Given the description of an element on the screen output the (x, y) to click on. 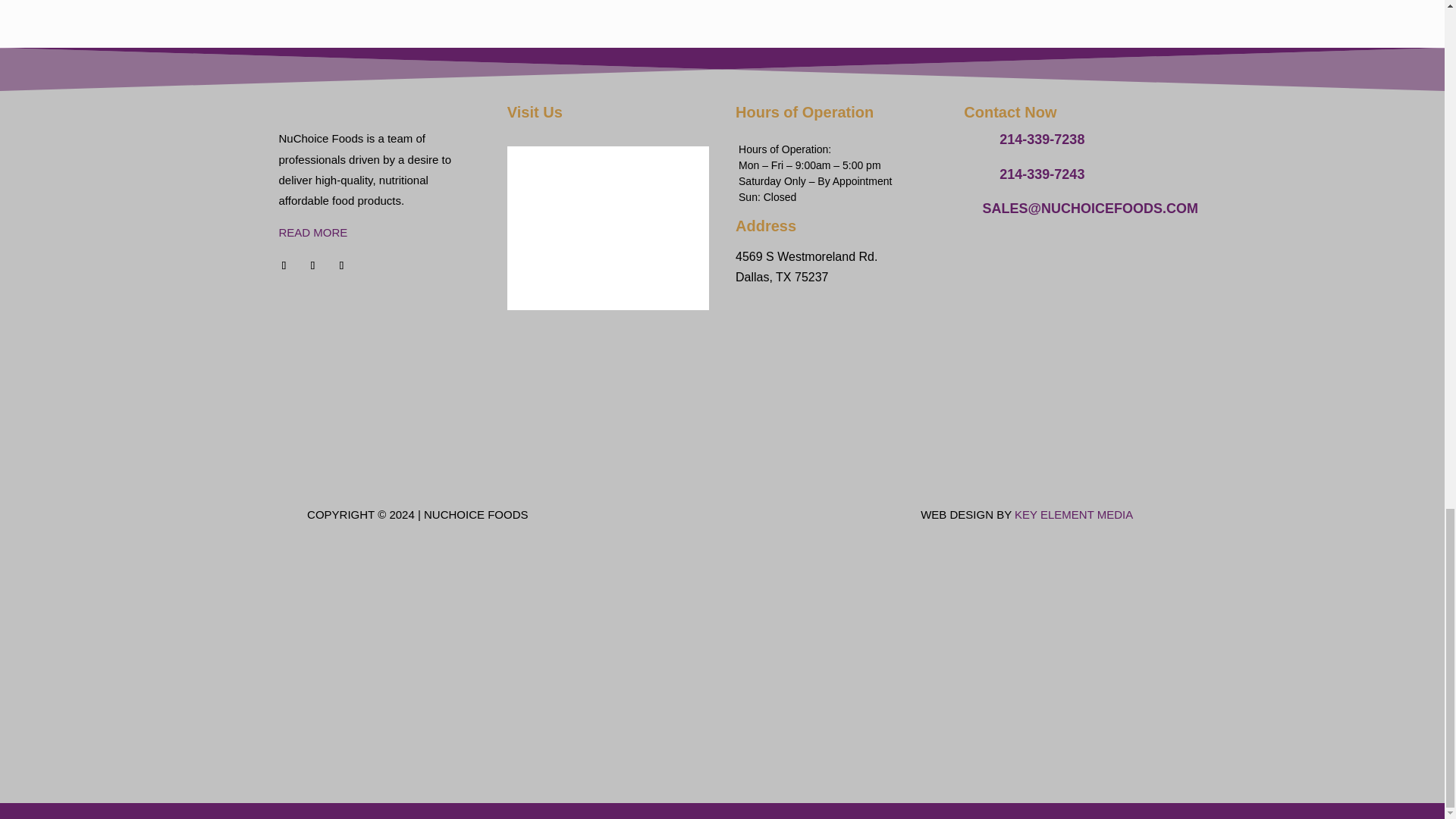
KEY ELEMENT MEDIA (1073, 513)
Follow on Instagram (312, 264)
Web Design (1073, 513)
214-339-7238 (1041, 139)
READ MORE (313, 232)
Follow on LinkedIn (341, 264)
Follow on Facebook (284, 264)
